Given the description of an element on the screen output the (x, y) to click on. 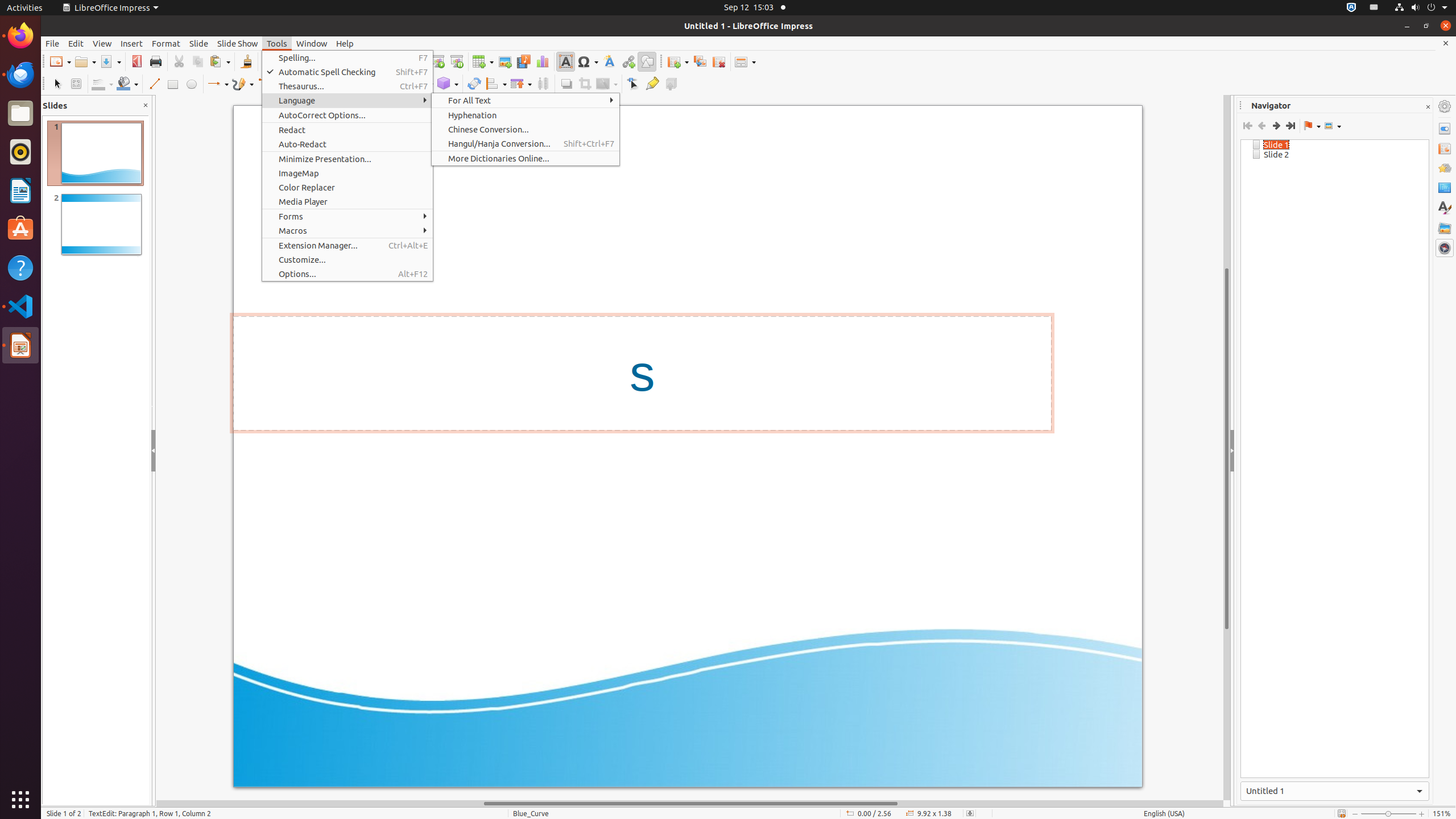
Show Shapes Element type: push-button (1332, 125)
File Element type: menu (51, 43)
Line Color Element type: push-button (101, 83)
Horizontal scroll bar Element type: scroll-bar (689, 803)
Redact Element type: menu-item (347, 129)
